Given the description of an element on the screen output the (x, y) to click on. 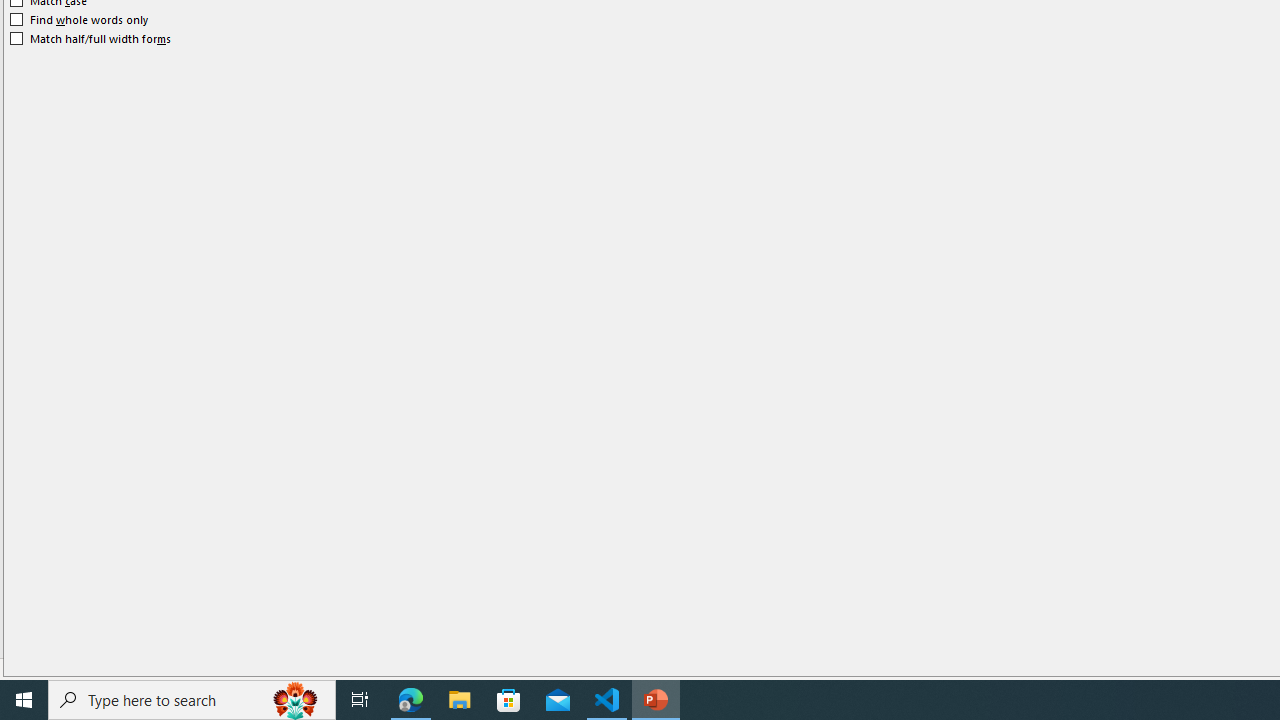
Find whole words only (79, 20)
Match half/full width forms (91, 38)
